Given the description of an element on the screen output the (x, y) to click on. 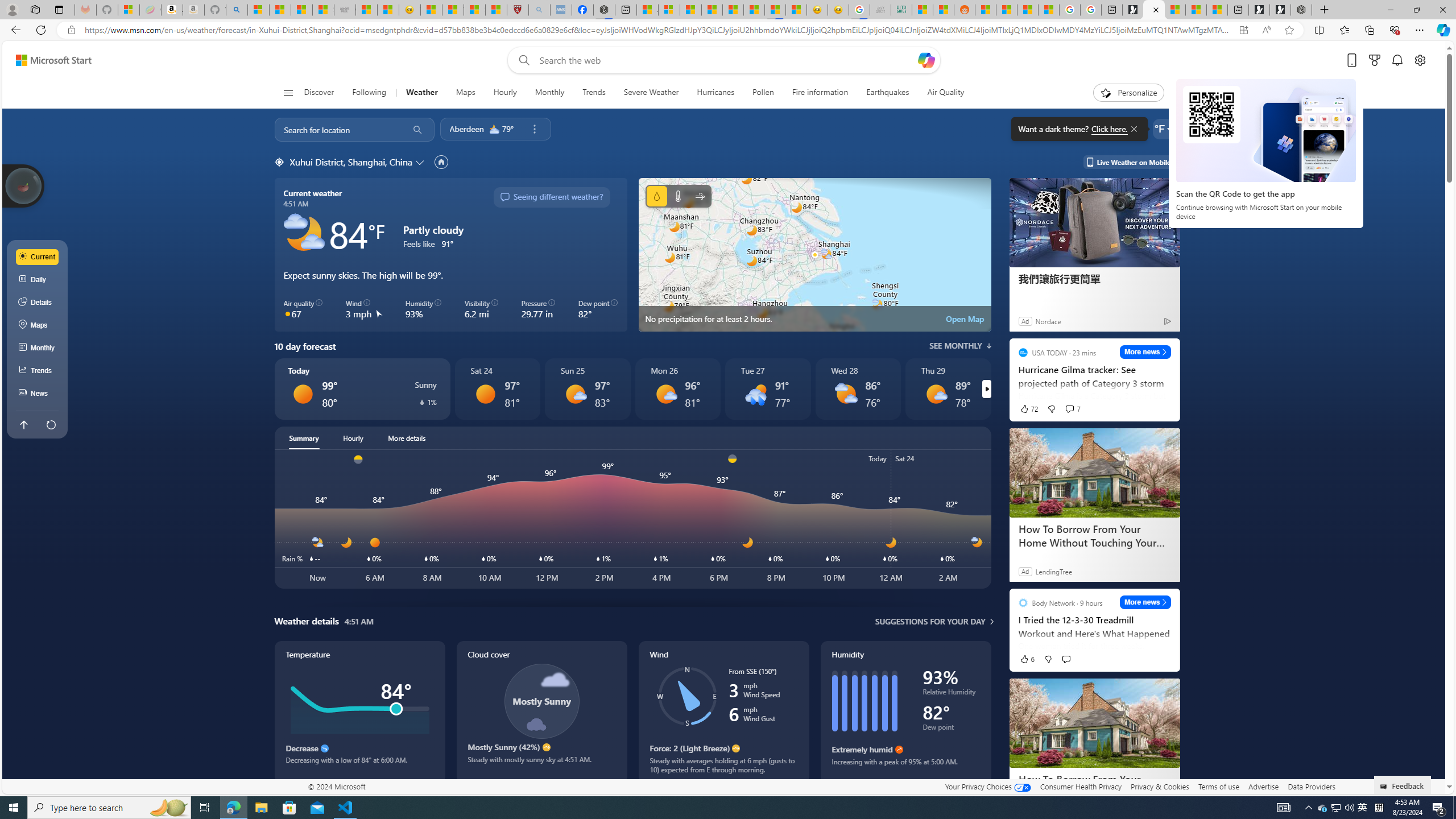
Mostly sunny (935, 393)
Humidity 93% (423, 309)
Remove location (534, 128)
Current (37, 256)
Air quality 67 (303, 309)
